Given the description of an element on the screen output the (x, y) to click on. 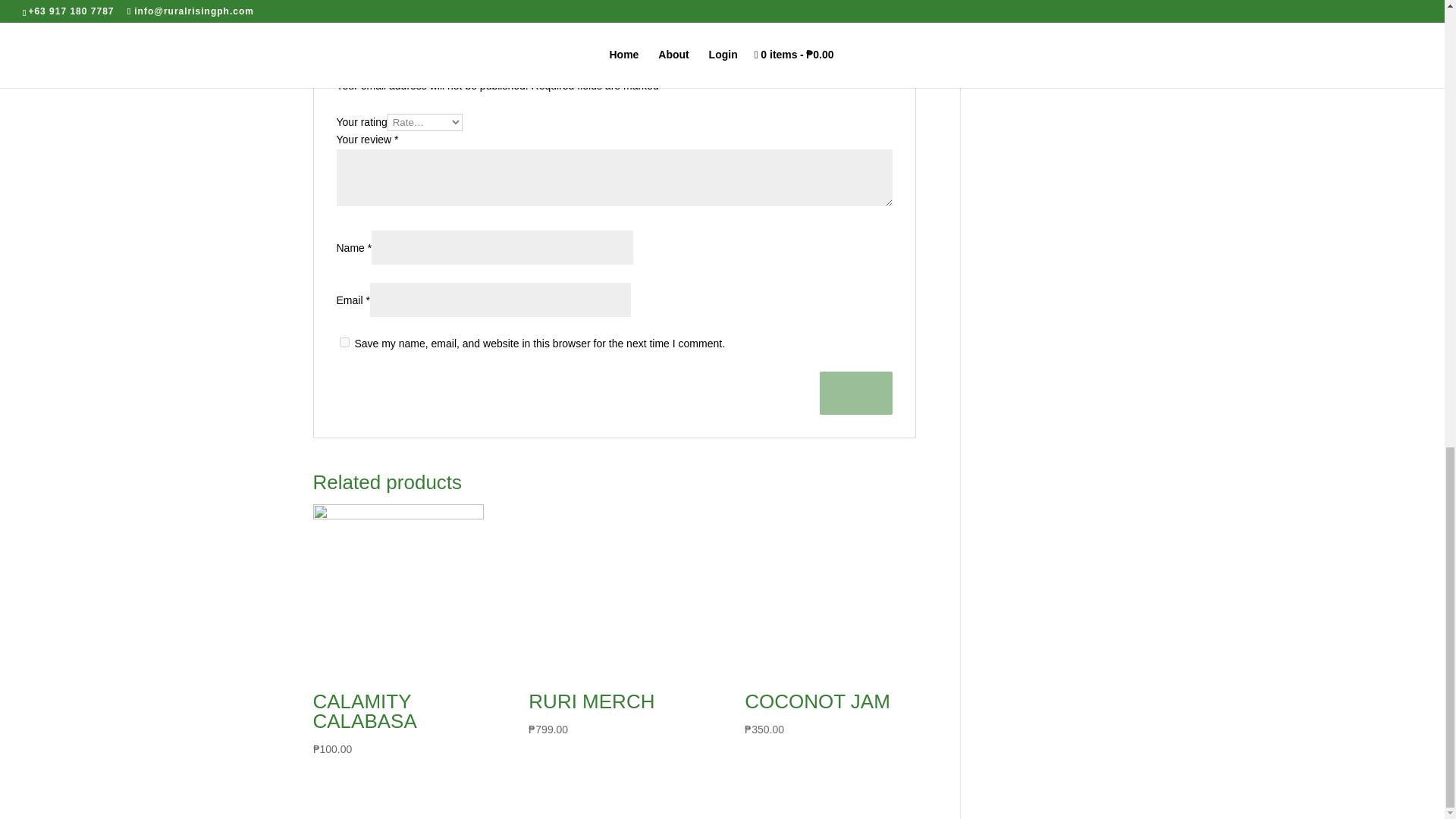
yes (344, 342)
Submit (855, 392)
Submit (855, 392)
